Given the description of an element on the screen output the (x, y) to click on. 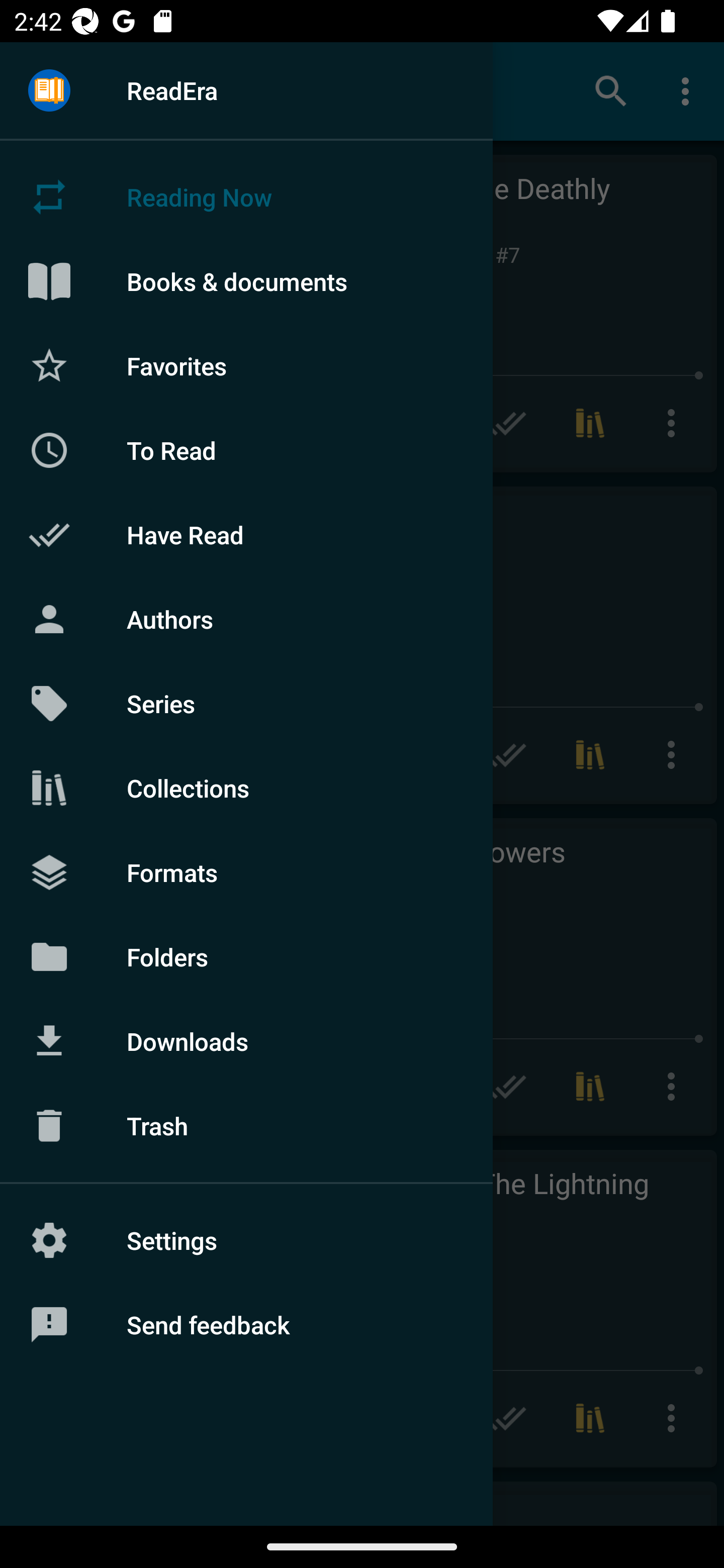
Menu (49, 91)
ReadEra (246, 89)
Search books & documents (611, 90)
More options (688, 90)
Reading Now (246, 197)
Books & documents (246, 281)
Favorites (246, 365)
To Read (246, 449)
Have Read (246, 534)
Authors (246, 619)
Series (246, 703)
Collections (246, 787)
Formats (246, 871)
Folders (246, 956)
Downloads (246, 1040)
Trash (246, 1125)
Settings (246, 1239)
Send feedback (246, 1324)
